Given the description of an element on the screen output the (x, y) to click on. 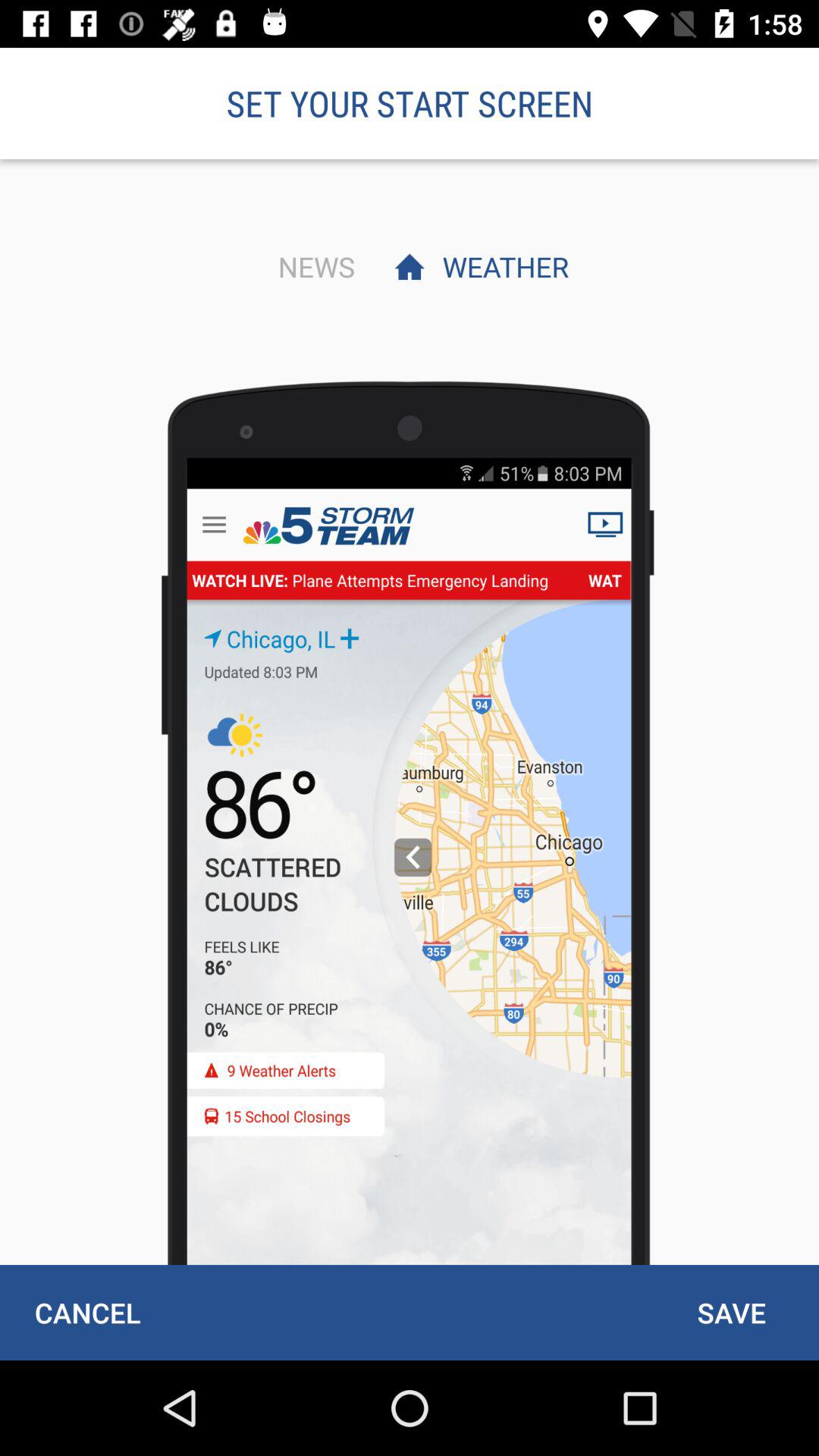
flip until the news (312, 266)
